Given the description of an element on the screen output the (x, y) to click on. 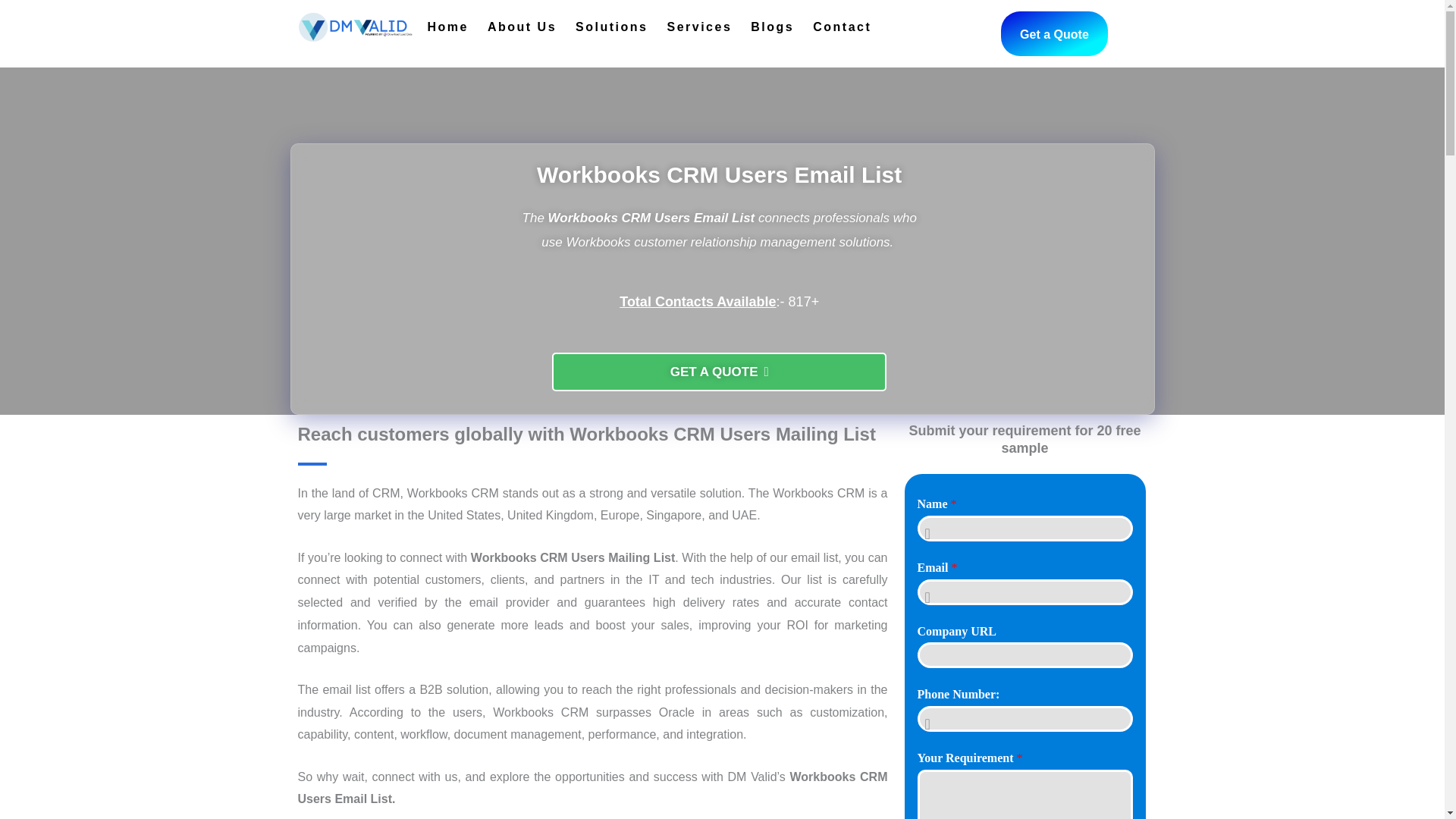
Solutions (611, 26)
About Us (521, 26)
Home (448, 26)
